Given the description of an element on the screen output the (x, y) to click on. 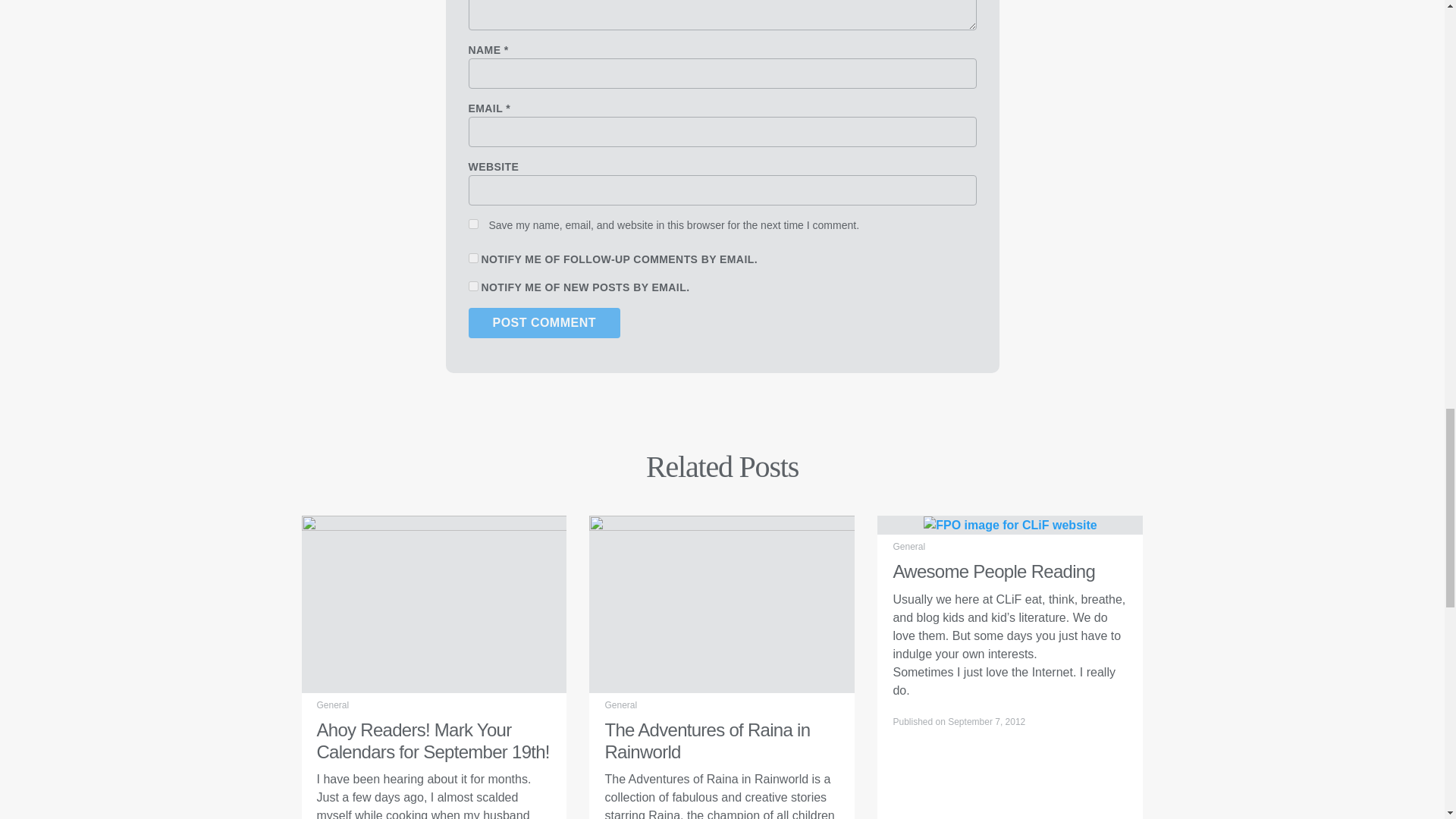
The Adventures of Raina in Rainworld (721, 603)
subscribe (473, 286)
subscribe (473, 257)
Post Comment (544, 322)
Ahoy Readers! Mark Your Calendars for September 19th! (434, 603)
yes (473, 224)
Awesome People Reading (1009, 523)
